Given the description of an element on the screen output the (x, y) to click on. 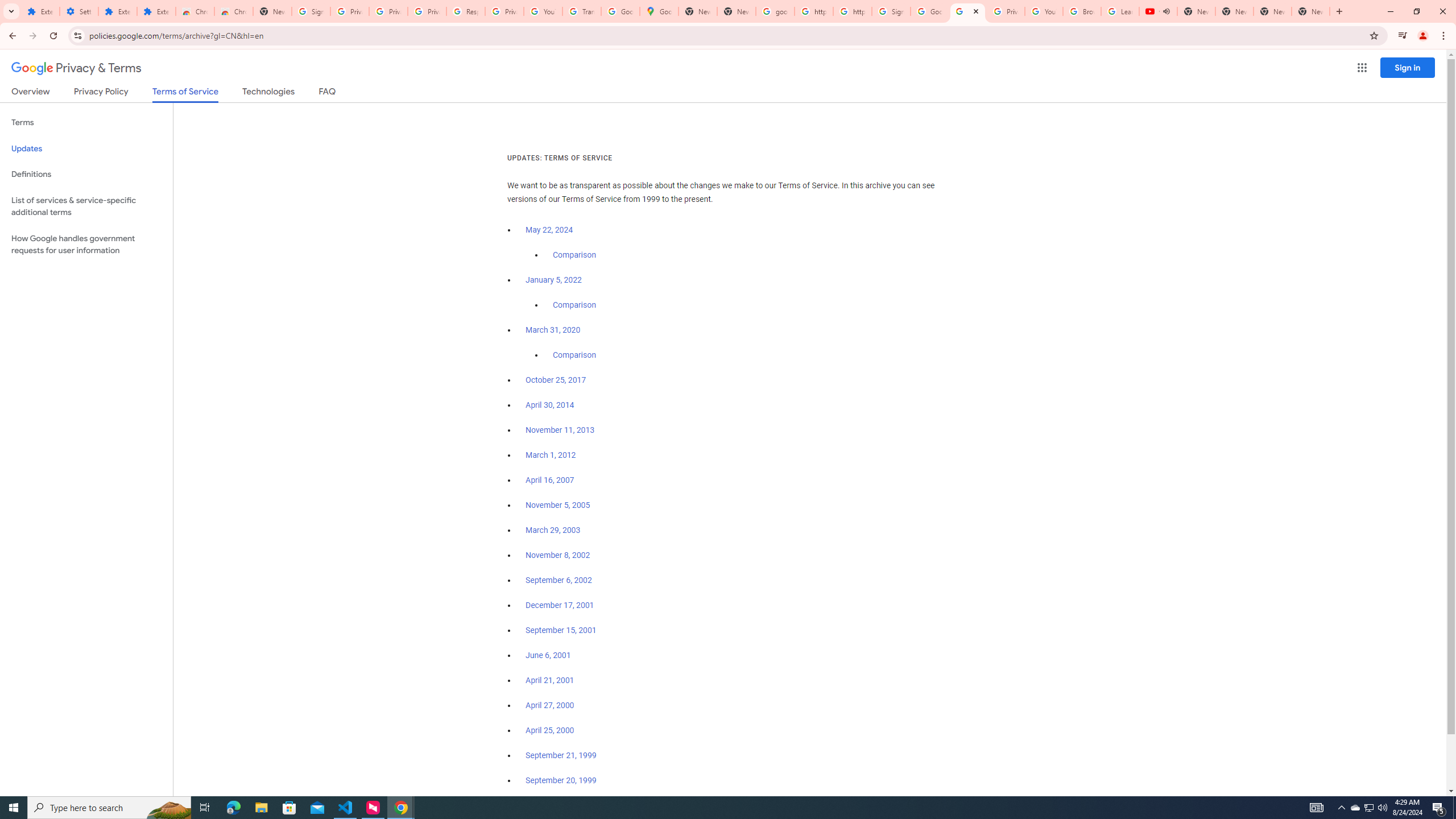
November 11, 2013 (560, 430)
Settings (79, 11)
January 5, 2022 (553, 280)
List of services & service-specific additional terms (86, 206)
March 1, 2012 (550, 455)
December 17, 2001 (559, 605)
April 30, 2014 (550, 405)
Chrome Web Store (194, 11)
Technologies (268, 93)
